Given the description of an element on the screen output the (x, y) to click on. 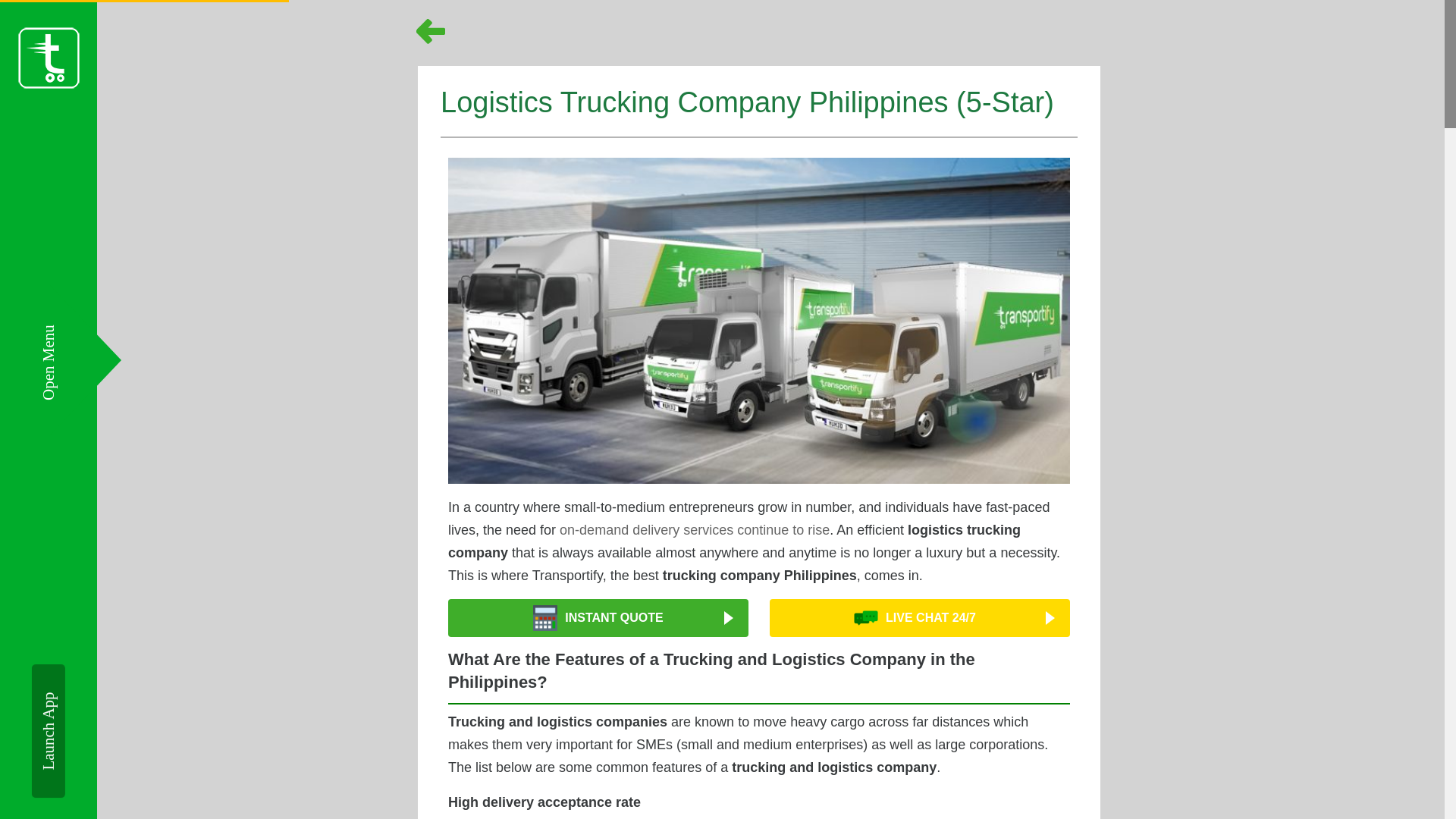
Open Menu (77, 333)
on-demand delivery services continue to rise (694, 529)
Launch App (98, 680)
INSTANT QUOTE (598, 617)
